Given the description of an element on the screen output the (x, y) to click on. 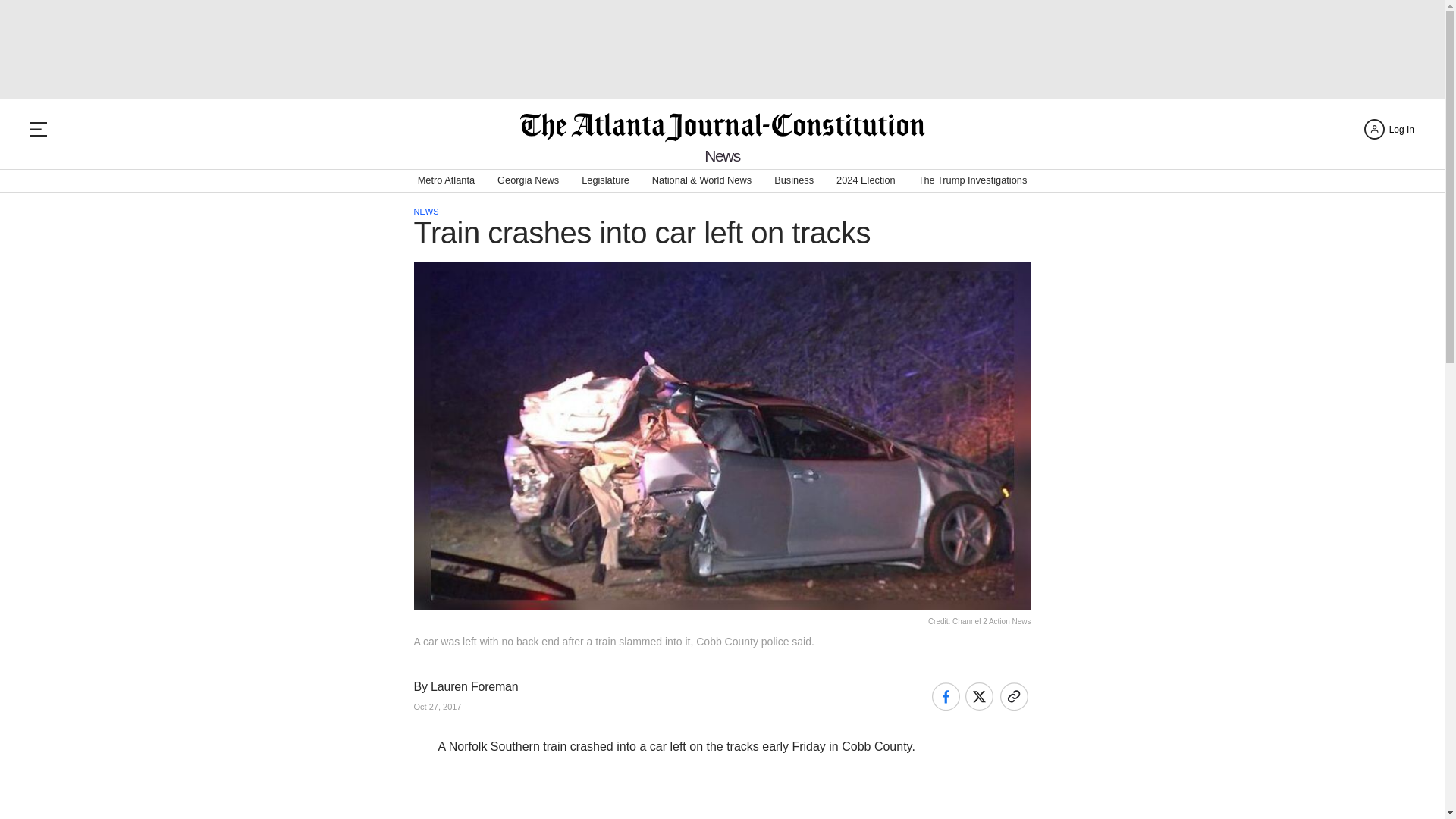
Legislature (604, 180)
Georgia News (528, 180)
Metro Atlanta (445, 180)
The Trump Investigations (972, 180)
News (721, 155)
Business (793, 180)
2024 Election (865, 180)
